Given the description of an element on the screen output the (x, y) to click on. 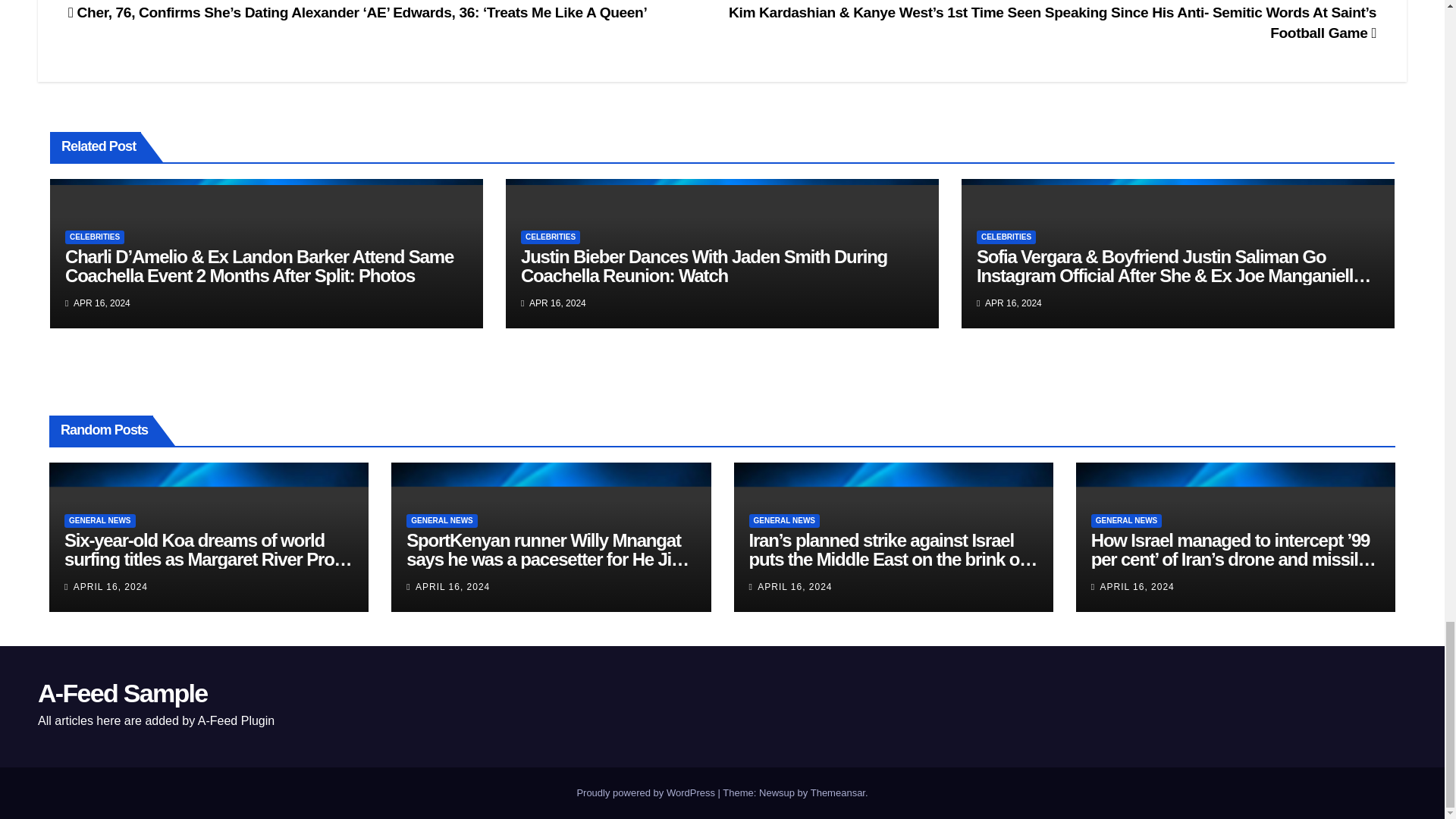
CELEBRITIES (550, 237)
APRIL 16, 2024 (111, 586)
GENERAL NEWS (785, 520)
APRIL 16, 2024 (451, 586)
GENERAL NEWS (99, 520)
CELEBRITIES (1005, 237)
